Given the description of an element on the screen output the (x, y) to click on. 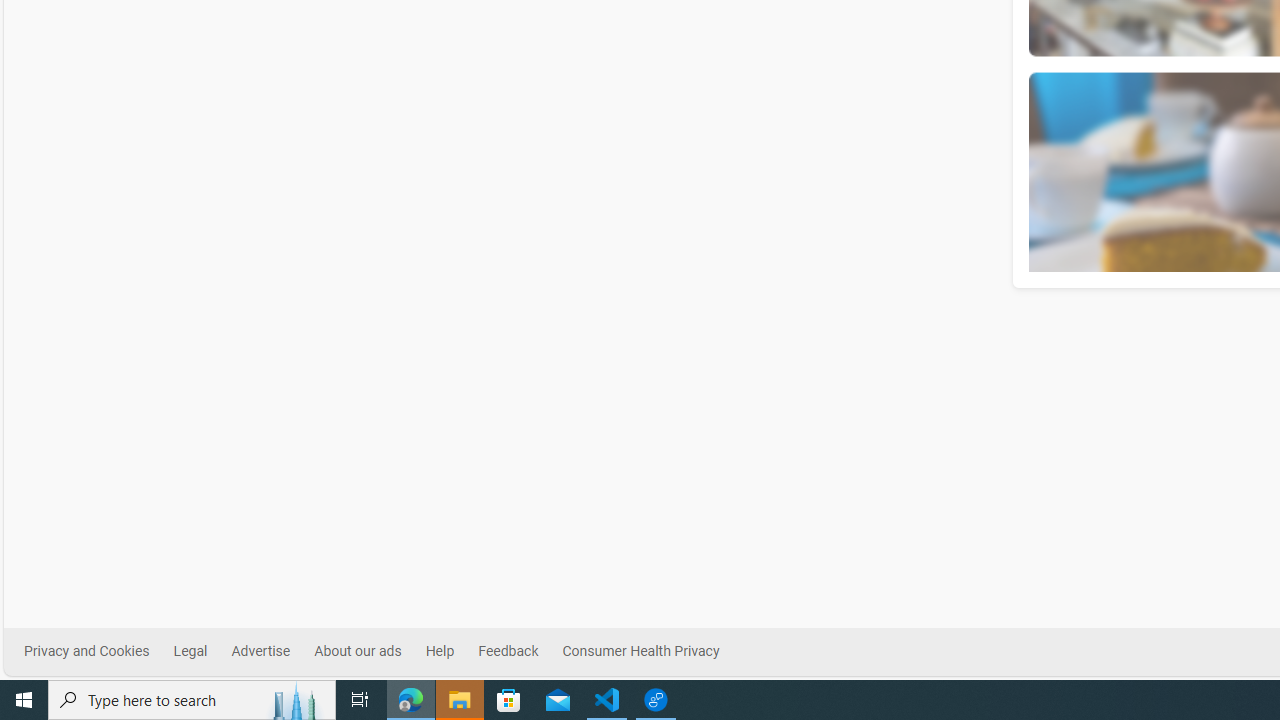
Privacy and Cookies (86, 651)
Help (451, 651)
About our ads (357, 651)
Advertise (260, 651)
Legal (201, 651)
Legal (189, 651)
About our ads (369, 651)
Consumer Health Privacy (640, 651)
Privacy and Cookies (99, 651)
Help (439, 651)
Consumer Health Privacy (652, 651)
Advertise (272, 651)
